Given the description of an element on the screen output the (x, y) to click on. 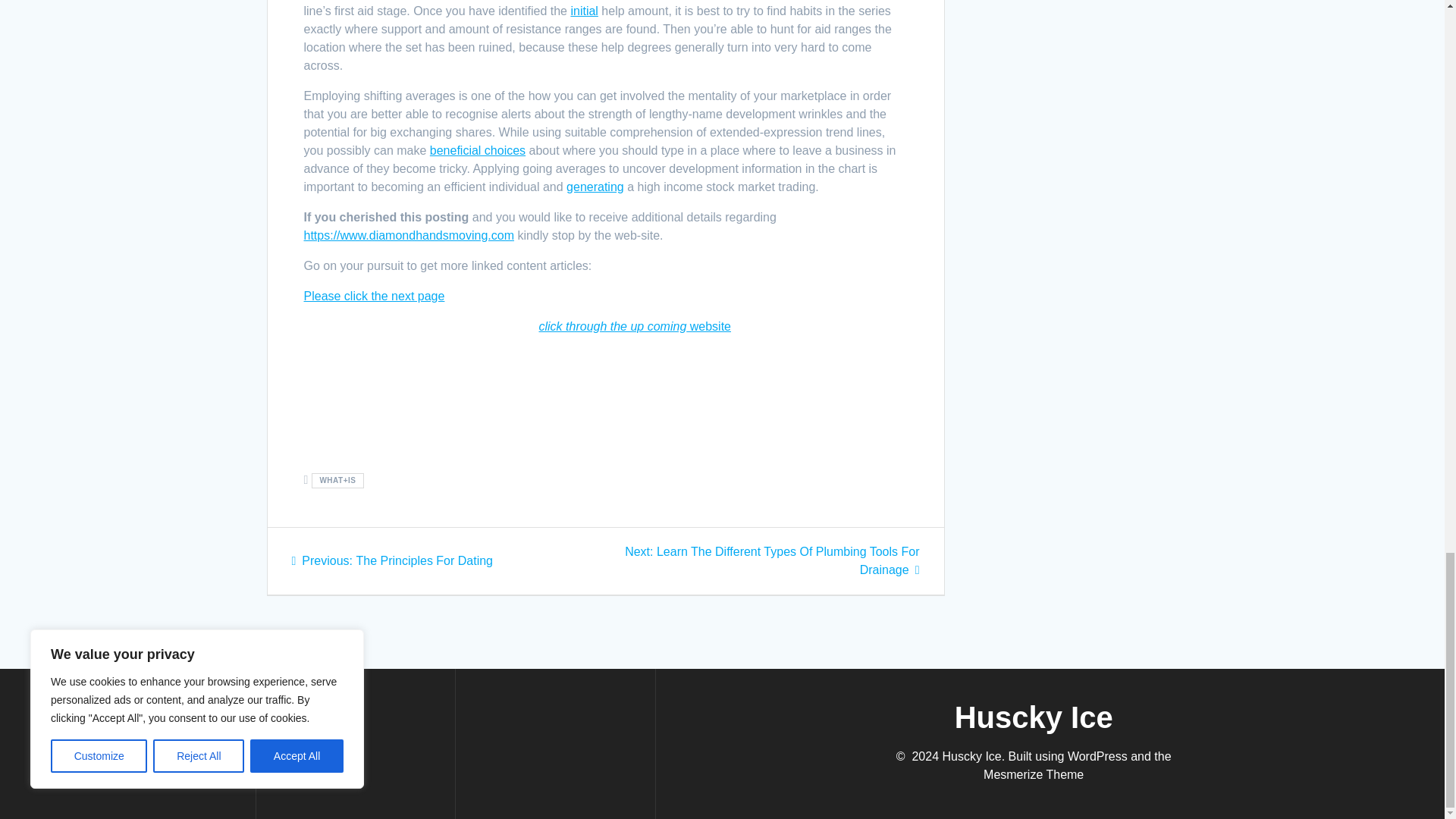
beneficial choices (392, 560)
initial (477, 150)
Please click the next page (583, 10)
click through the up coming website (373, 295)
generating (634, 326)
